Given the description of an element on the screen output the (x, y) to click on. 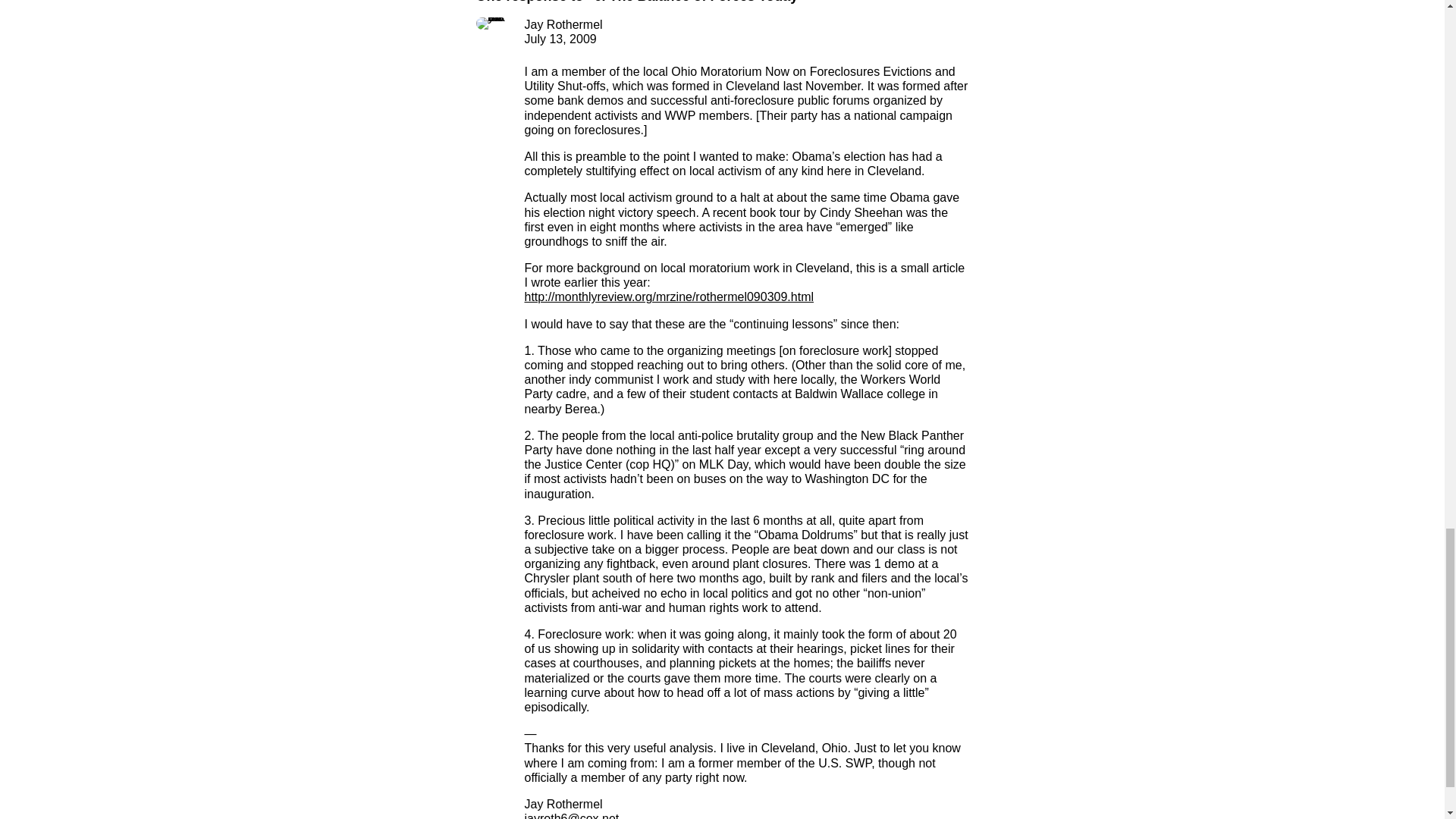
July 13, 2009 (560, 38)
